Given the description of an element on the screen output the (x, y) to click on. 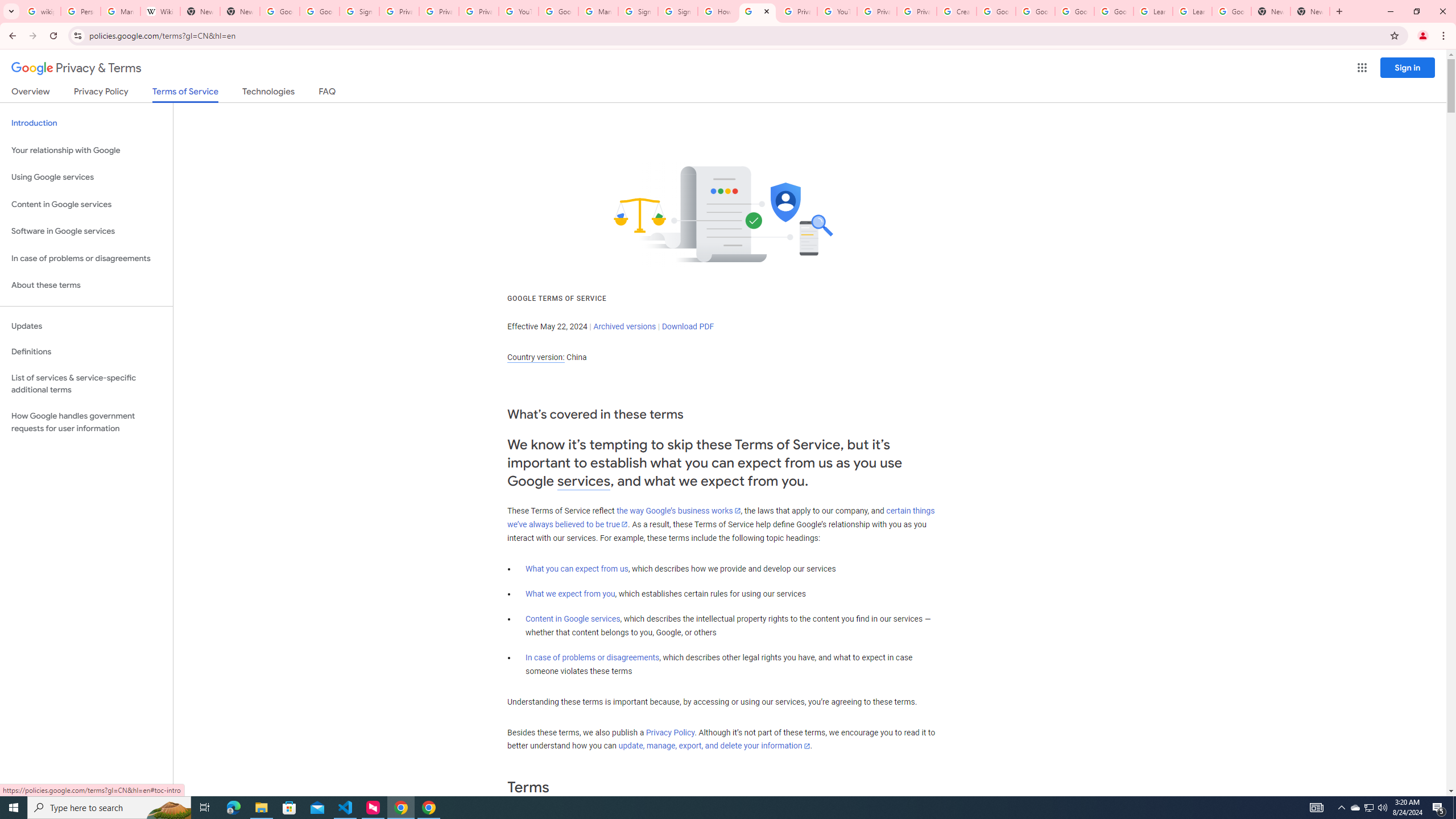
How Google handles government requests for user information (86, 422)
About these terms (86, 284)
Google Account Help (557, 11)
YouTube (518, 11)
Google Account Help (1034, 11)
YouTube (836, 11)
update, manage, export, and delete your information (714, 746)
Personalization & Google Search results - Google Search Help (80, 11)
